Given the description of an element on the screen output the (x, y) to click on. 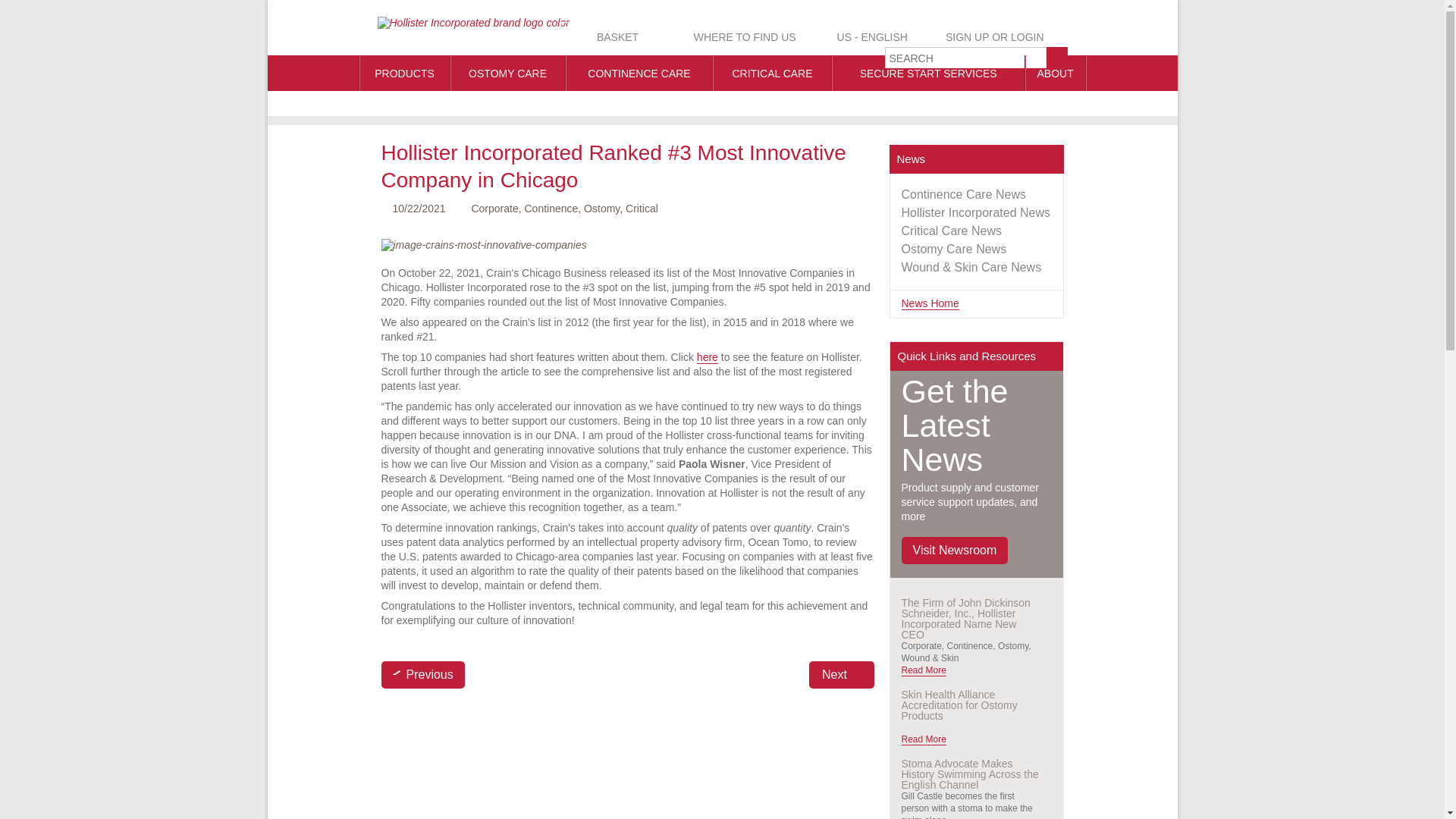
search (1056, 56)
SIGN UP OR LOGIN (1003, 36)
US - ENGLISH (870, 36)
WHERE TO FIND US (738, 36)
PRODUCTS (610, 36)
